Given the description of an element on the screen output the (x, y) to click on. 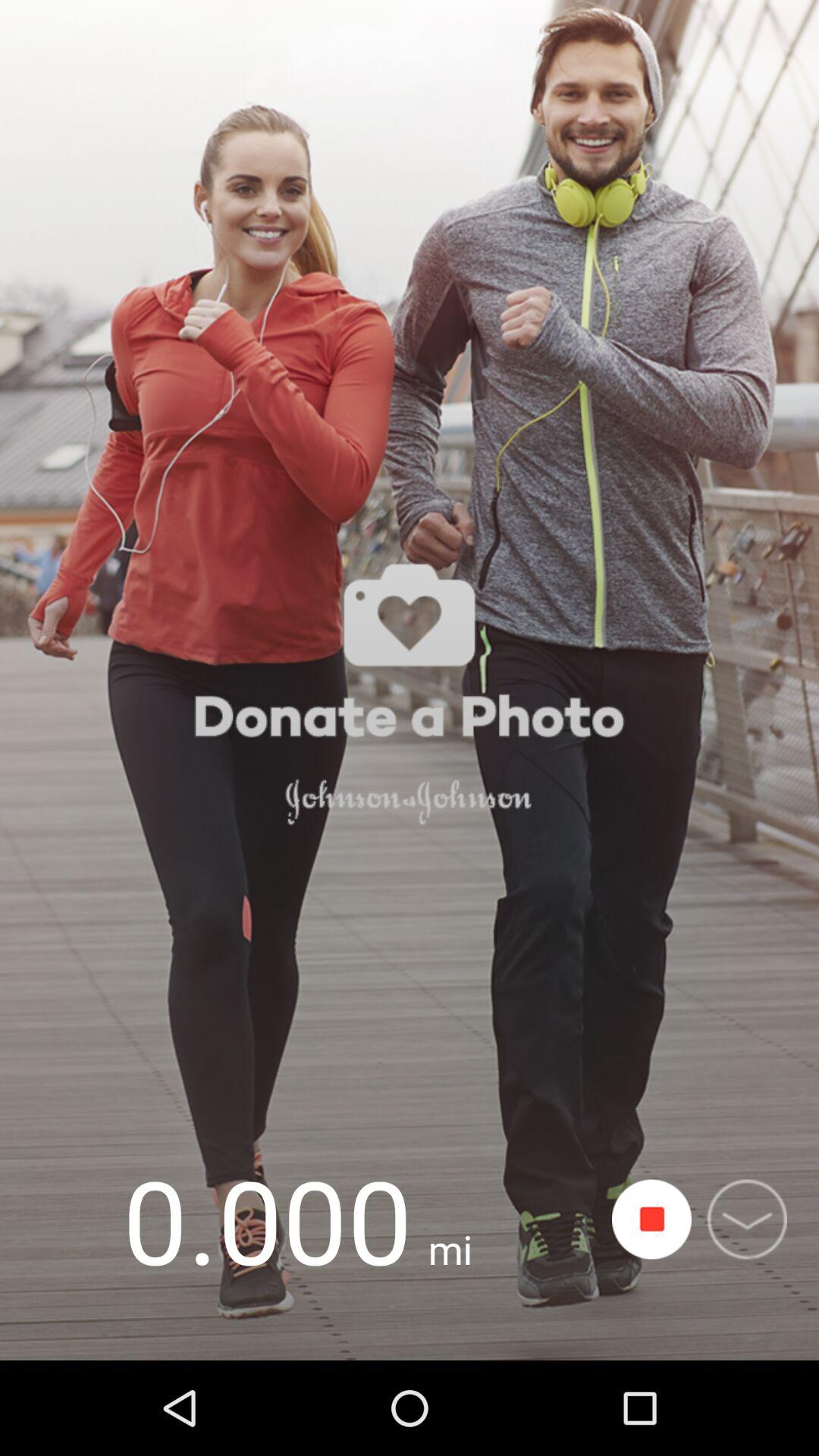
click to start or stop counting steps (651, 1219)
